Given the description of an element on the screen output the (x, y) to click on. 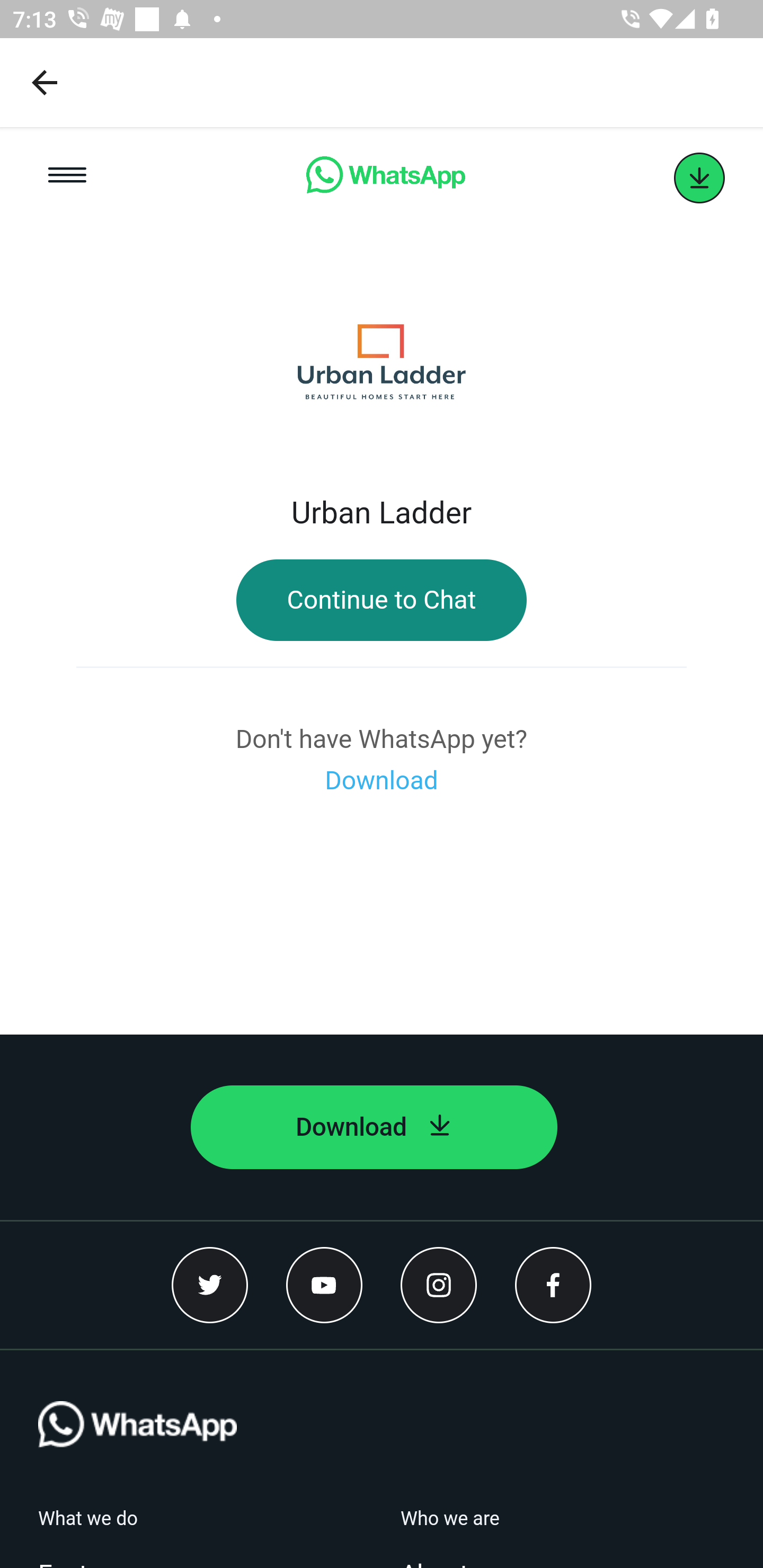
Navigate up (44, 82)
Open mobile menu (67, 177)
details?id=com (698, 177)
WhatsApp Main Page (385, 177)
Continue to Chat (381, 600)
Download (381, 780)
Download (373, 1127)
Twitter (209, 1284)
Youtube (324, 1284)
Instagram (438, 1284)
Facebook (553, 1284)
WhatsApp Main Logo (137, 1453)
